Given the description of an element on the screen output the (x, y) to click on. 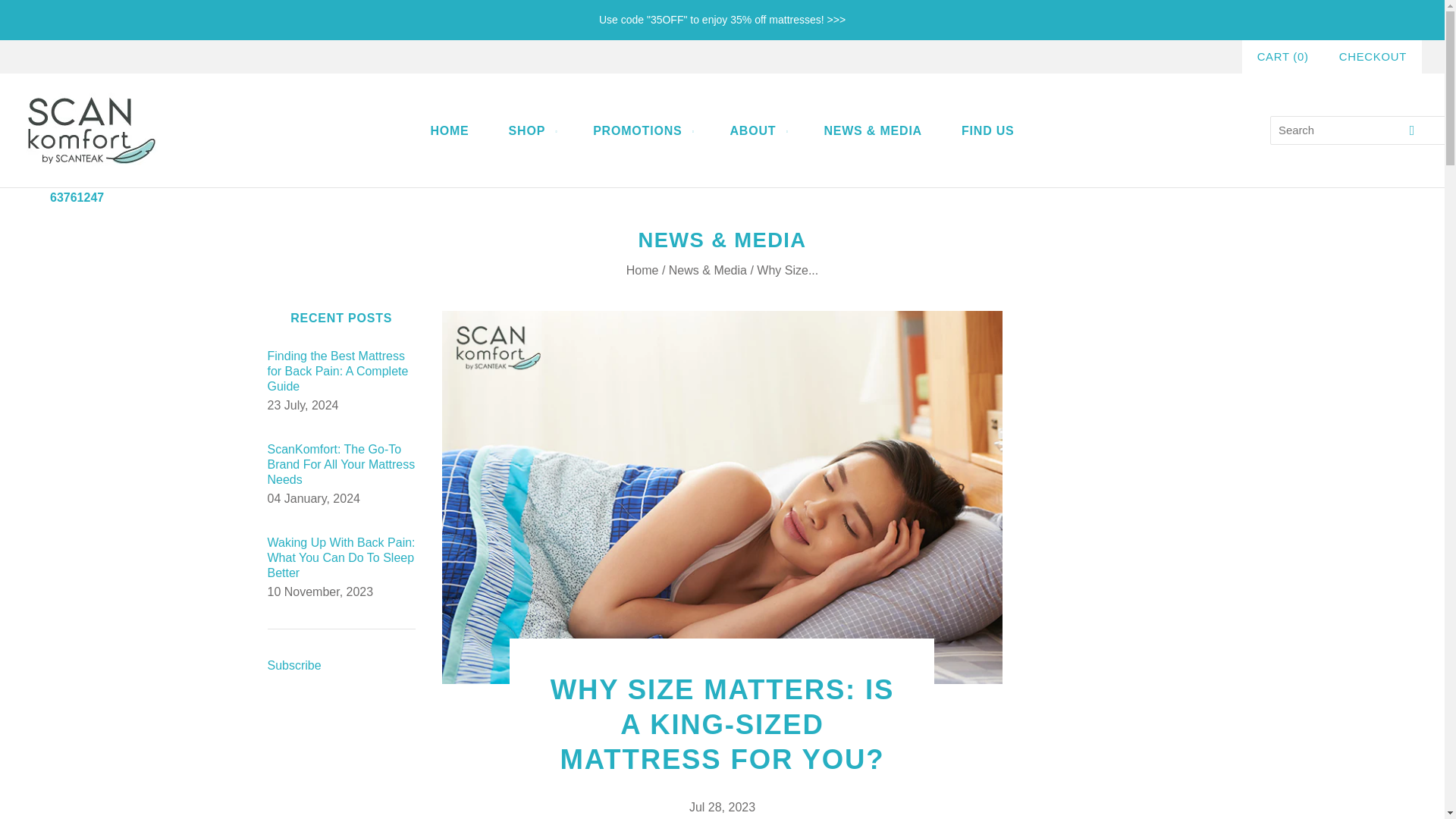
SHOP (531, 130)
CHECKOUT (1372, 56)
HOME (448, 130)
FIND US (987, 130)
63761247 (76, 196)
PROMOTIONS (641, 130)
ABOUT (756, 130)
